Given the description of an element on the screen output the (x, y) to click on. 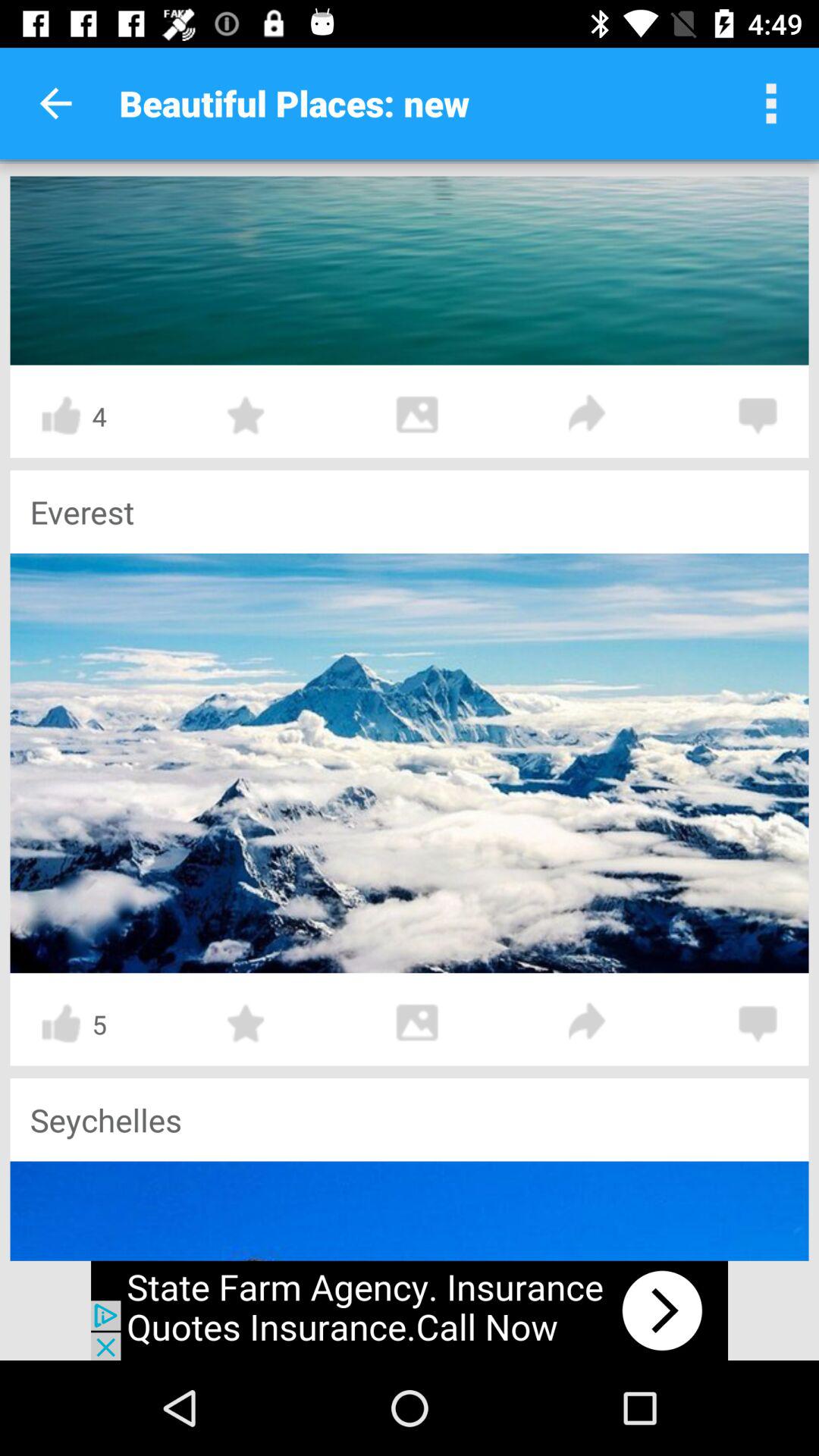
open image (417, 1023)
